Given the description of an element on the screen output the (x, y) to click on. 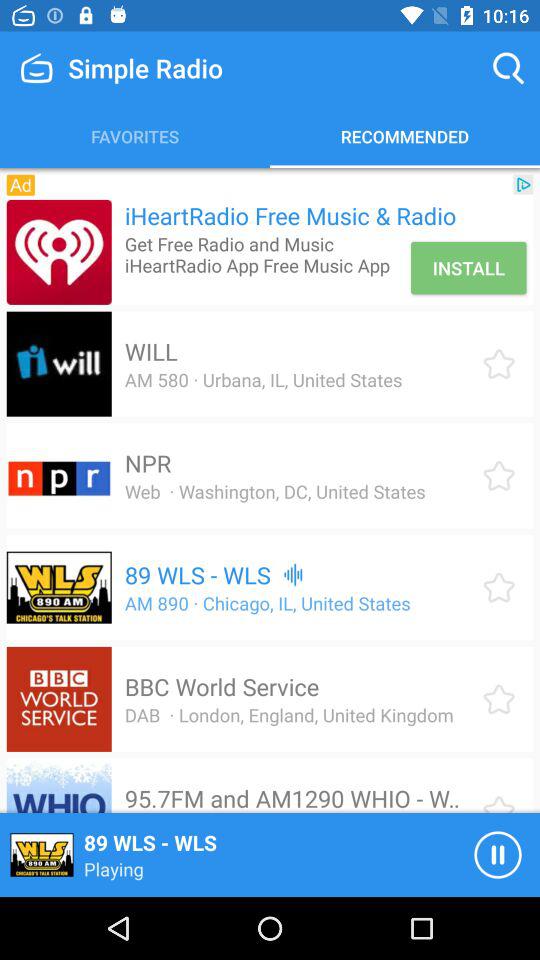
logo and link for iheartradio (58, 251)
